Given the description of an element on the screen output the (x, y) to click on. 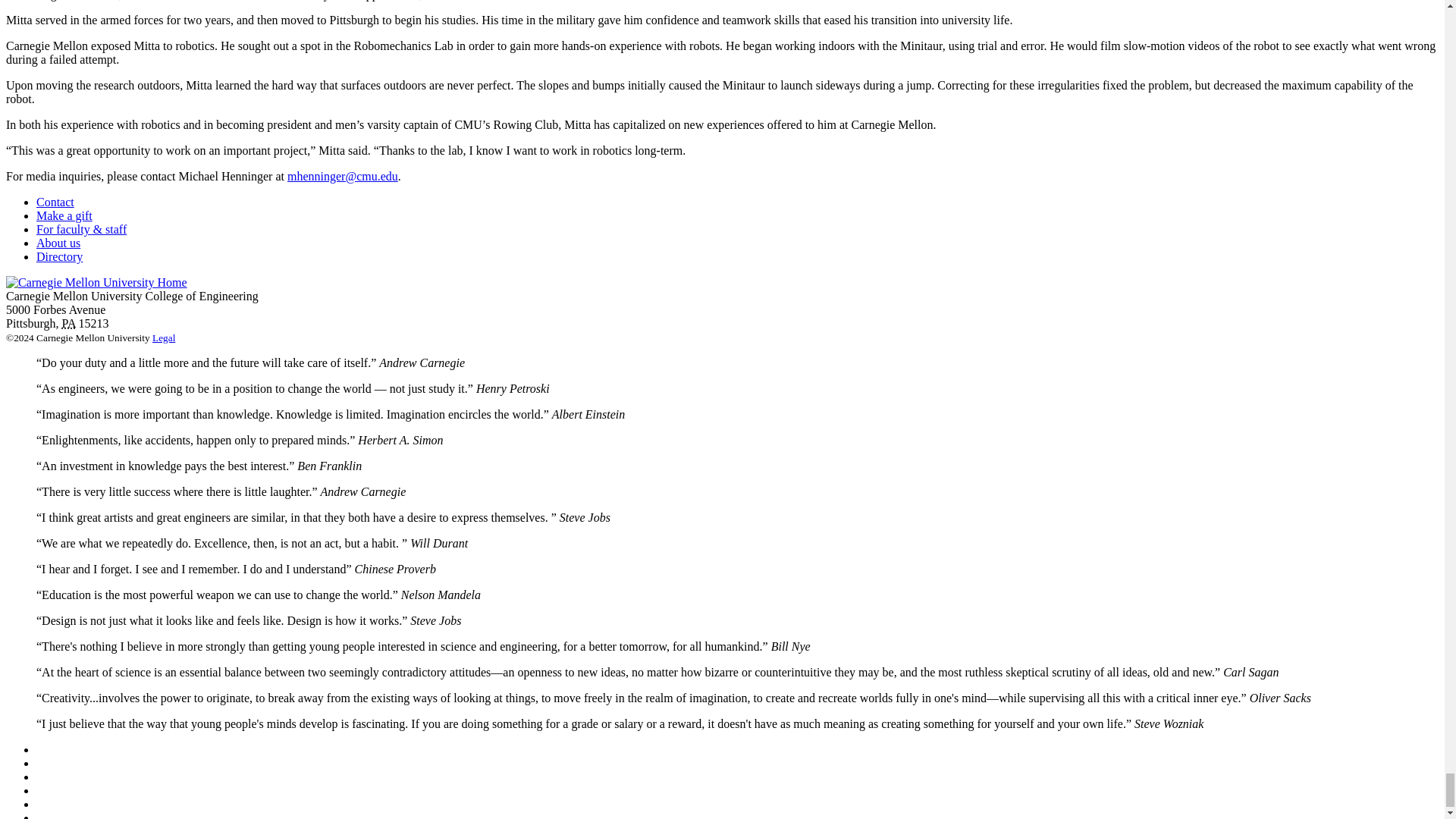
Pennsylvania (68, 323)
Contact (55, 201)
